Given the description of an element on the screen output the (x, y) to click on. 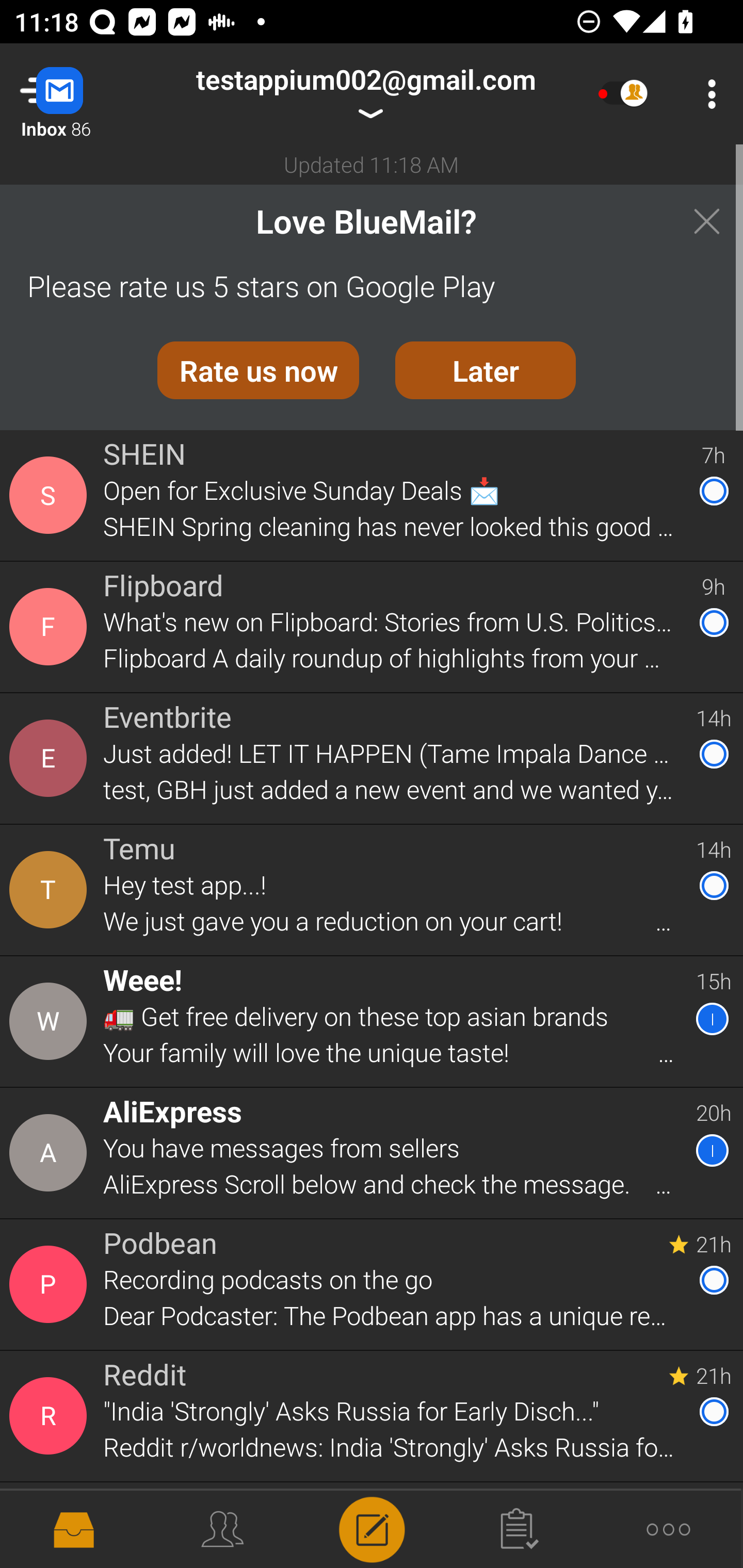
Navigate up (81, 93)
testappium002@gmail.com (365, 93)
More Options (706, 93)
Updated 11:18 AM (371, 164)
Rate us now (257, 370)
Later (485, 370)
Contact Details (50, 495)
Contact Details (50, 626)
Contact Details (50, 758)
Contact Details (50, 889)
Contact Details (50, 1021)
Contact Details (50, 1153)
Contact Details (50, 1284)
Contact Details (50, 1416)
Contact Details (50, 1524)
Compose (371, 1528)
